Given the description of an element on the screen output the (x, y) to click on. 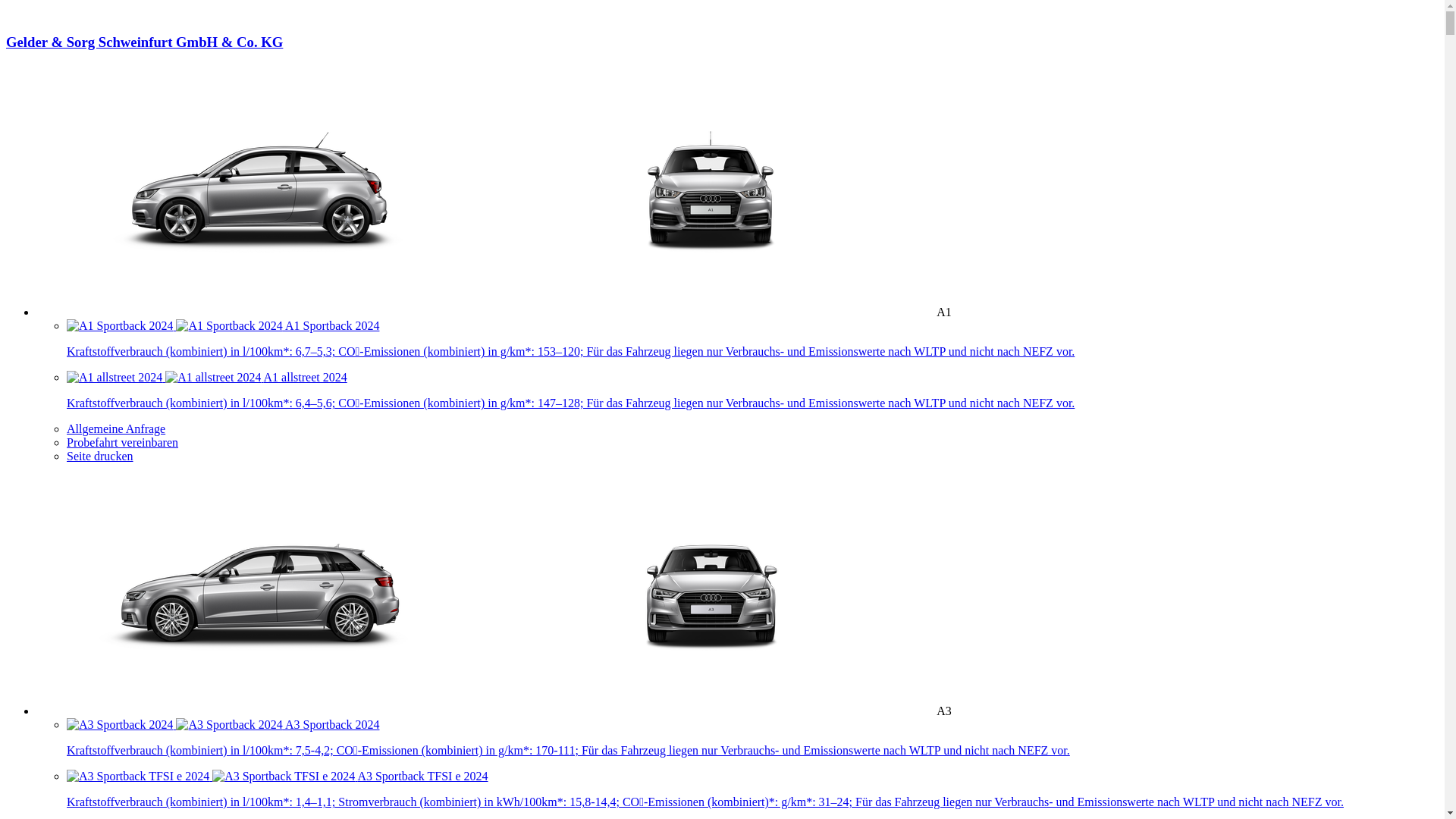
Seite drucken Element type: text (99, 455)
Gelder & Sorg Schweinfurt GmbH & Co. KG Element type: text (722, 56)
Probefahrt vereinbaren Element type: text (122, 442)
A1 Element type: text (493, 311)
Allgemeine Anfrage Element type: text (115, 428)
A3 Element type: text (493, 710)
